Given the description of an element on the screen output the (x, y) to click on. 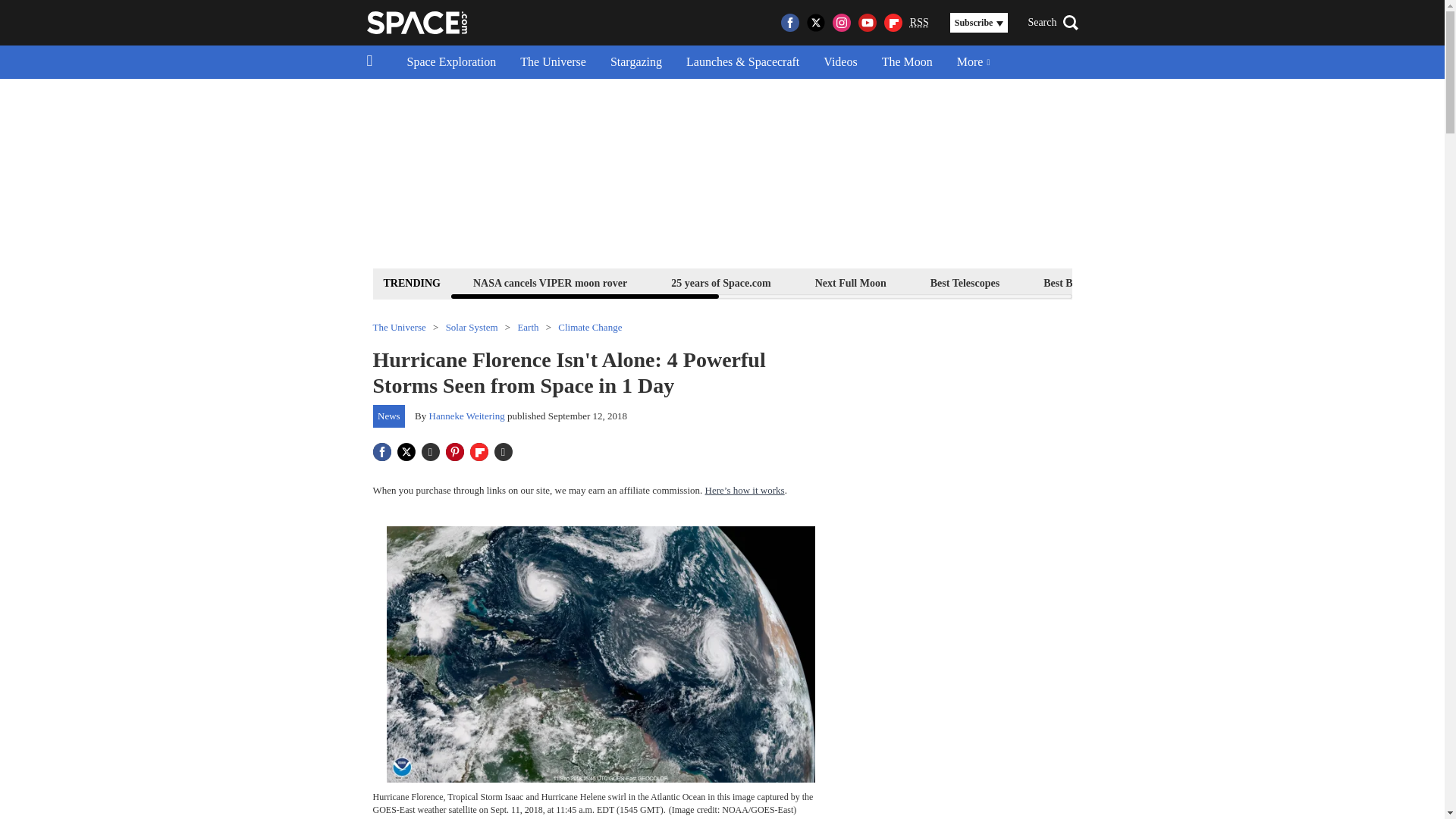
Next Full Moon (850, 282)
RSS (919, 22)
25 years of Space.com (720, 282)
Best Star Projectors (1204, 282)
The Moon (906, 61)
Best Binoculars (1078, 282)
NASA cancels VIPER moon rover (549, 282)
Really Simple Syndication (919, 21)
Space Exploration (451, 61)
Videos (839, 61)
Best Telescopes (964, 282)
The Universe (553, 61)
Space Calendar (1329, 282)
Stargazing (636, 61)
